Given the description of an element on the screen output the (x, y) to click on. 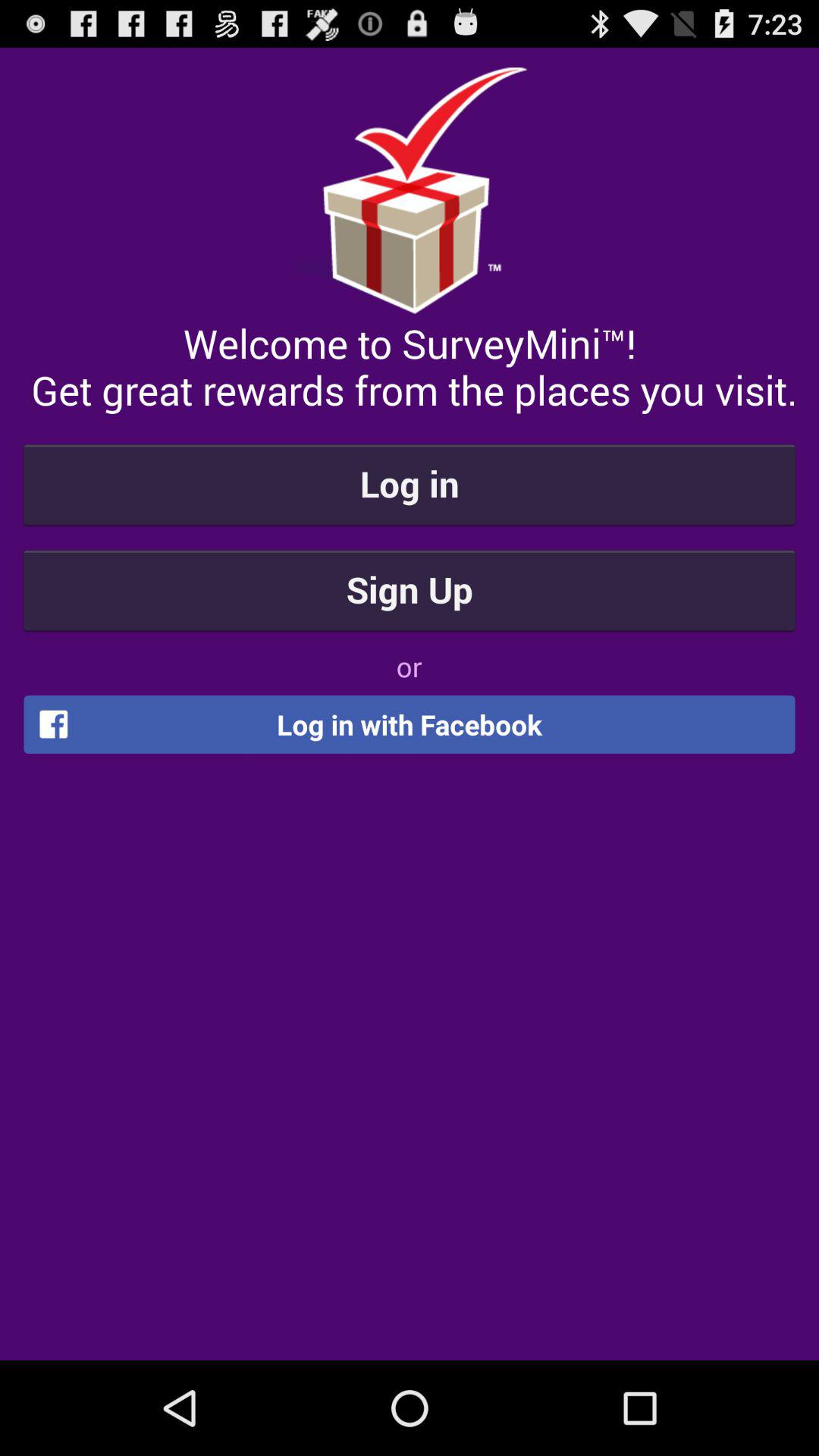
tap icon below the log in icon (409, 589)
